Given the description of an element on the screen output the (x, y) to click on. 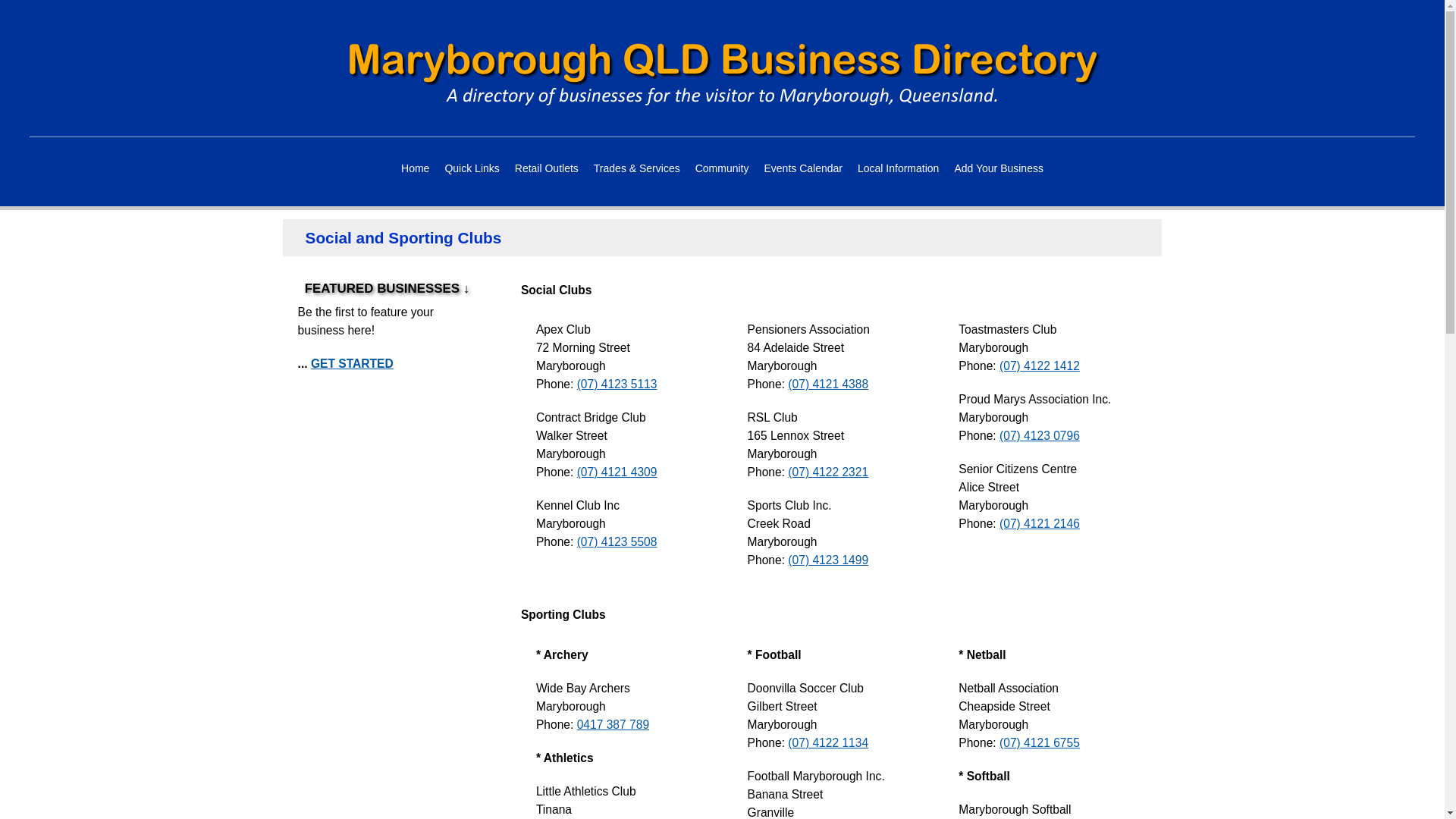
(07) 4121 4309 Element type: text (617, 471)
Home Element type: text (414, 168)
Quick Links Element type: text (471, 168)
Events Calendar Element type: text (803, 168)
(07) 4121 6755 Element type: text (1039, 742)
Community Element type: text (721, 168)
(07) 4121 2146 Element type: text (1039, 523)
(07) 4123 5508 Element type: text (617, 541)
Trades & Services Element type: text (636, 168)
(07) 4122 1412 Element type: text (1039, 365)
Local Information Element type: text (898, 168)
0417 387 789 Element type: text (613, 724)
Retail Outlets Element type: text (546, 168)
(07) 4123 5113 Element type: text (617, 383)
GET STARTED Element type: text (351, 363)
(07) 4123 0796 Element type: text (1039, 435)
Add Your Business Element type: text (998, 168)
(07) 4122 2321 Element type: text (827, 471)
(07) 4123 1499 Element type: text (827, 559)
(07) 4122 1134 Element type: text (827, 742)
Maryborough Business Directory Element type: hover (721, 74)
(07) 4121 4388 Element type: text (827, 383)
